Given the description of an element on the screen output the (x, y) to click on. 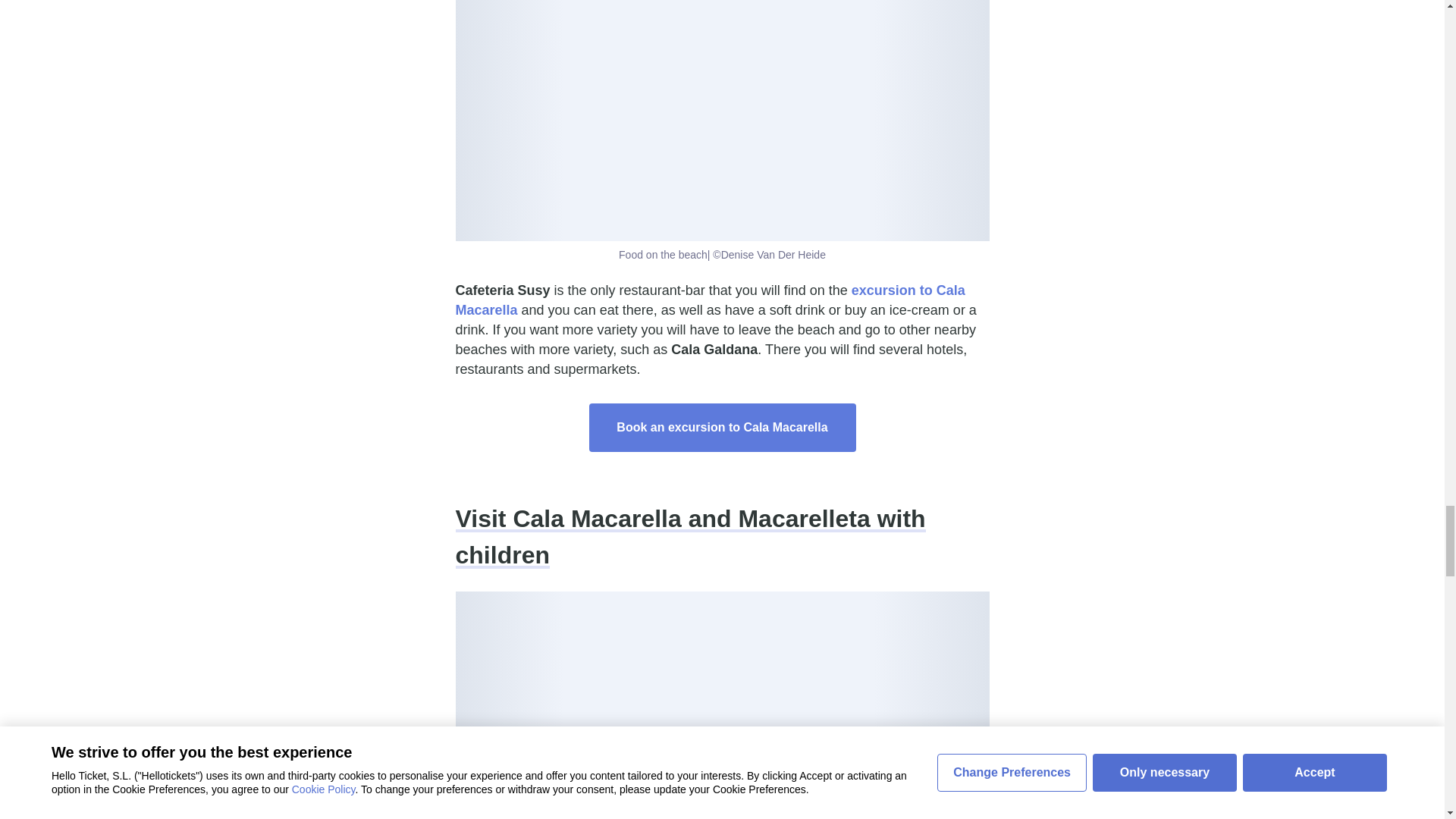
Book an excursion to Cala Macarella (722, 427)
excursion to Cala Macarella (708, 299)
